Given the description of an element on the screen output the (x, y) to click on. 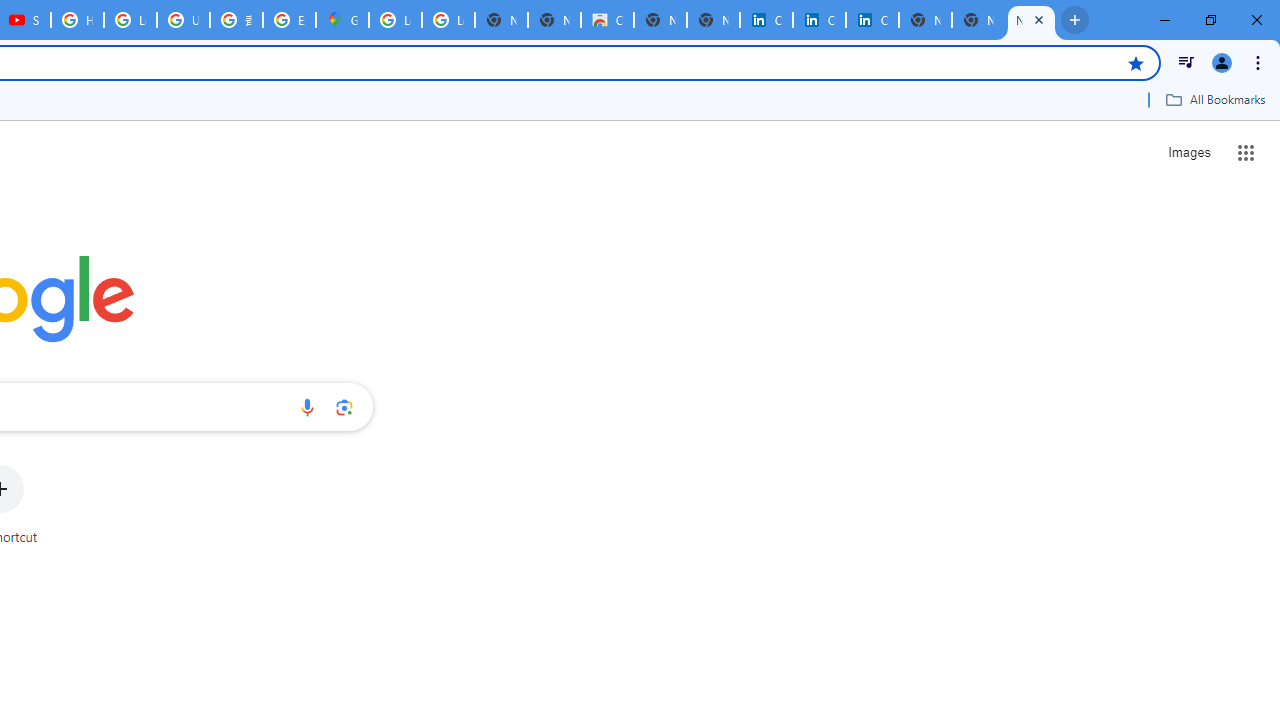
New Tab (1031, 20)
Google Maps (342, 20)
Cookie Policy | LinkedIn (766, 20)
